Given the description of an element on the screen output the (x, y) to click on. 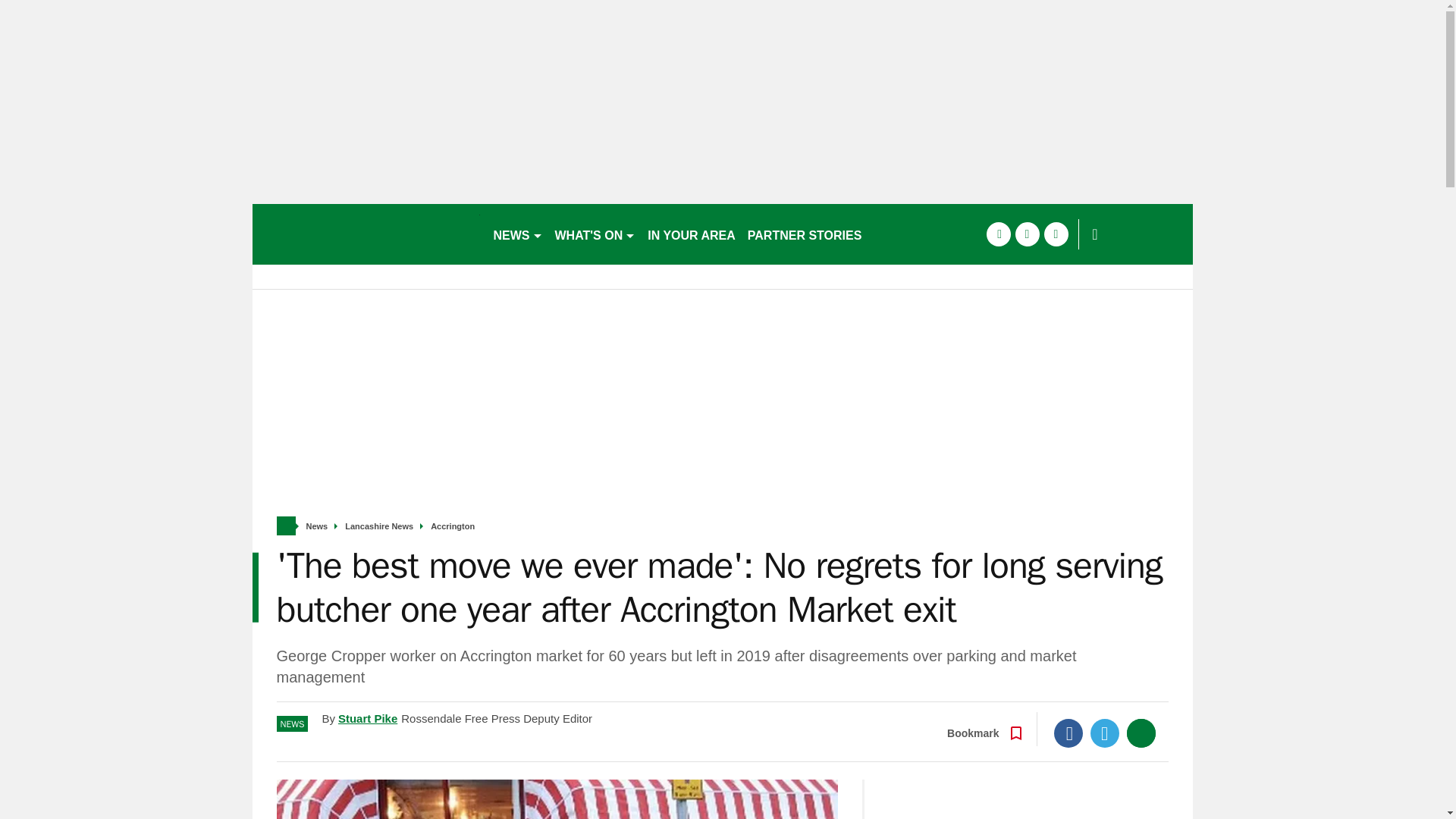
twitter (1026, 233)
instagram (1055, 233)
IN YOUR AREA (691, 233)
accrington (365, 233)
facebook (997, 233)
Twitter (1104, 733)
NEWS (517, 233)
PARTNER STORIES (804, 233)
Facebook (1068, 733)
WHAT'S ON (595, 233)
